Given the description of an element on the screen output the (x, y) to click on. 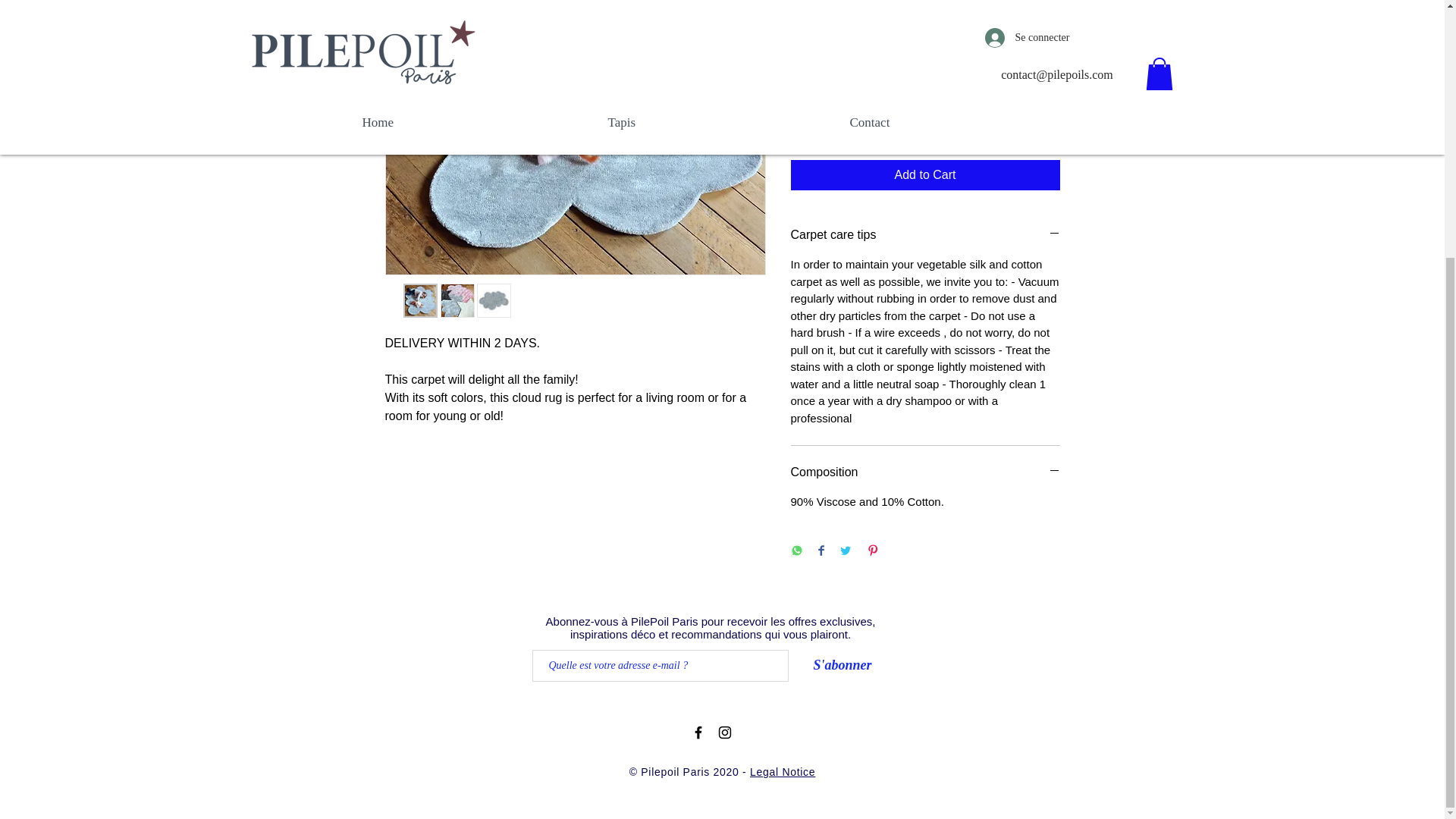
Legal Notice (782, 771)
Composition (924, 472)
120cm x 140cm (924, 53)
Carpet care tips (924, 234)
S'abonner (842, 665)
Add to Cart (924, 174)
1 (818, 119)
